Given the description of an element on the screen output the (x, y) to click on. 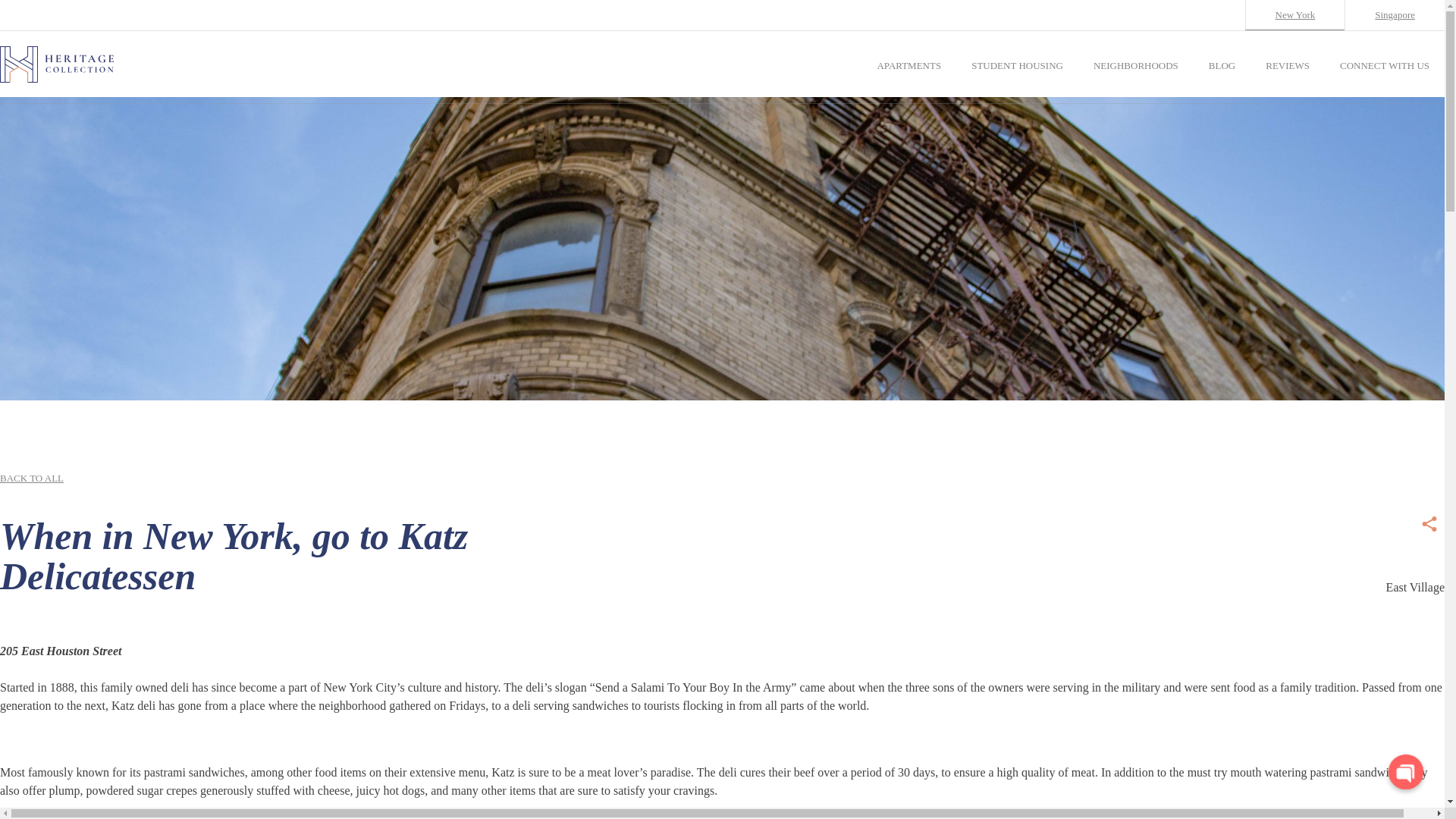
APARTMENTS (908, 65)
NEIGHBORHOODS (1135, 65)
CONNECT WITH US (1384, 65)
REVIEWS (1286, 65)
Share (1428, 522)
Singapore (1393, 14)
New York (1294, 15)
STUDENT HOUSING (1016, 65)
